Given the description of an element on the screen output the (x, y) to click on. 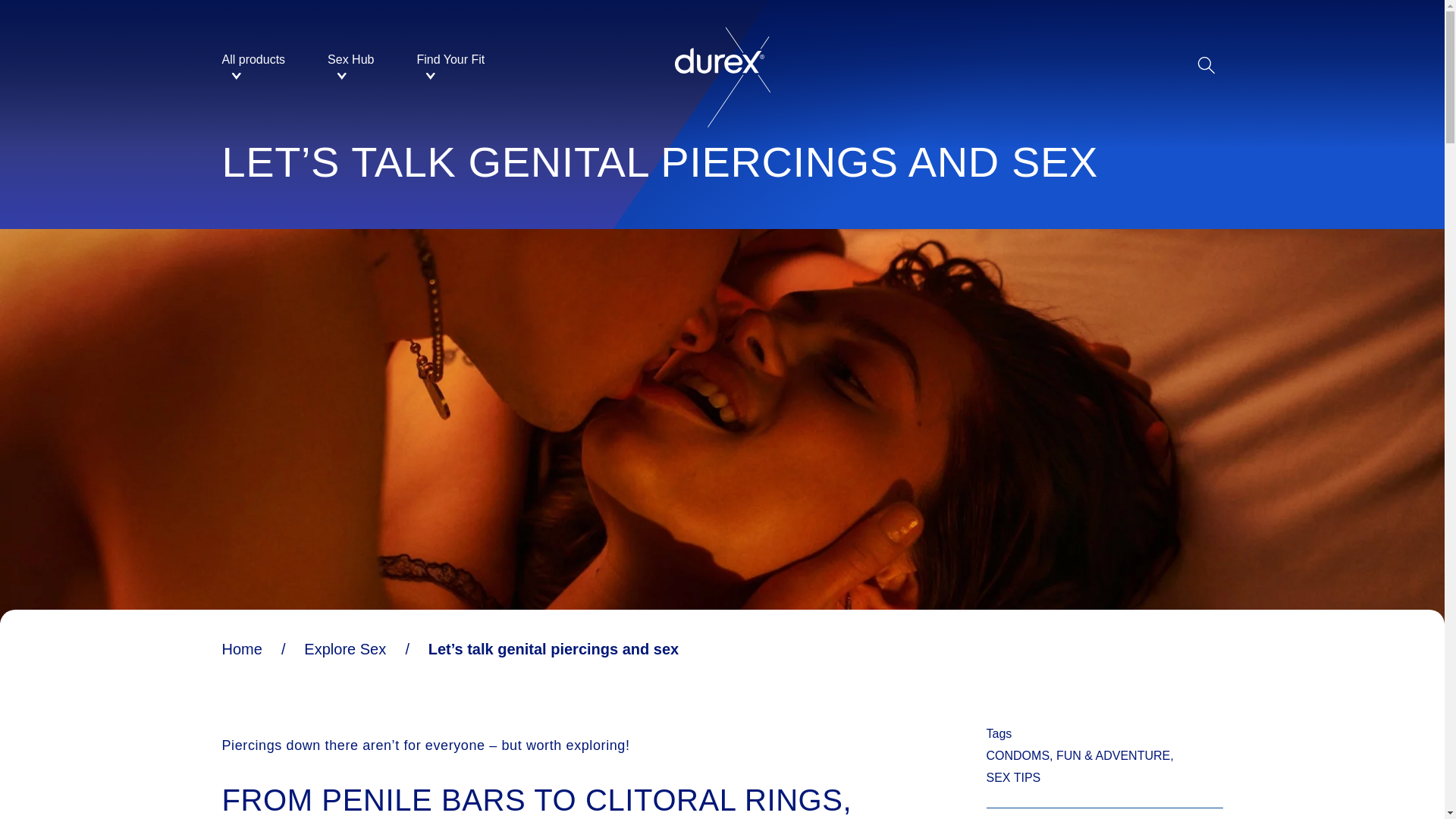
Go to homepage (722, 65)
Go to homepage (721, 180)
Skip to content (721, 180)
